Given the description of an element on the screen output the (x, y) to click on. 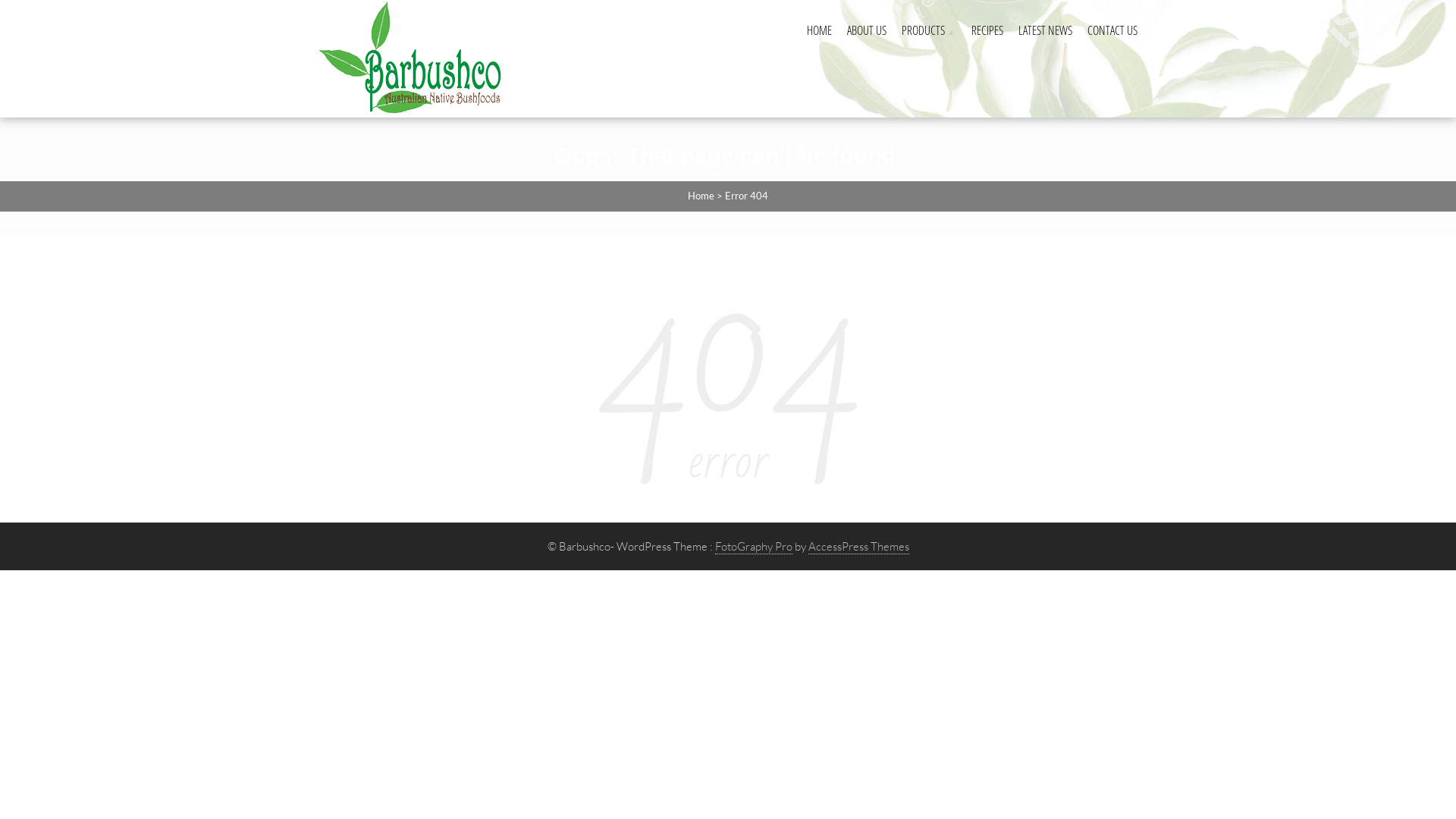
HOME Element type: text (818, 30)
FotoGraphy Pro Element type: text (752, 545)
Home Element type: text (700, 195)
ABOUT US Element type: text (866, 30)
Barbushco
Australian Bush Food Grower Element type: text (414, 54)
LATEST NEWS Element type: text (1045, 30)
AccessPress Themes Element type: text (858, 545)
PRODUCTS Element type: text (928, 30)
RECIPES Element type: text (987, 30)
CONTACT US Element type: text (1112, 30)
